Given the description of an element on the screen output the (x, y) to click on. 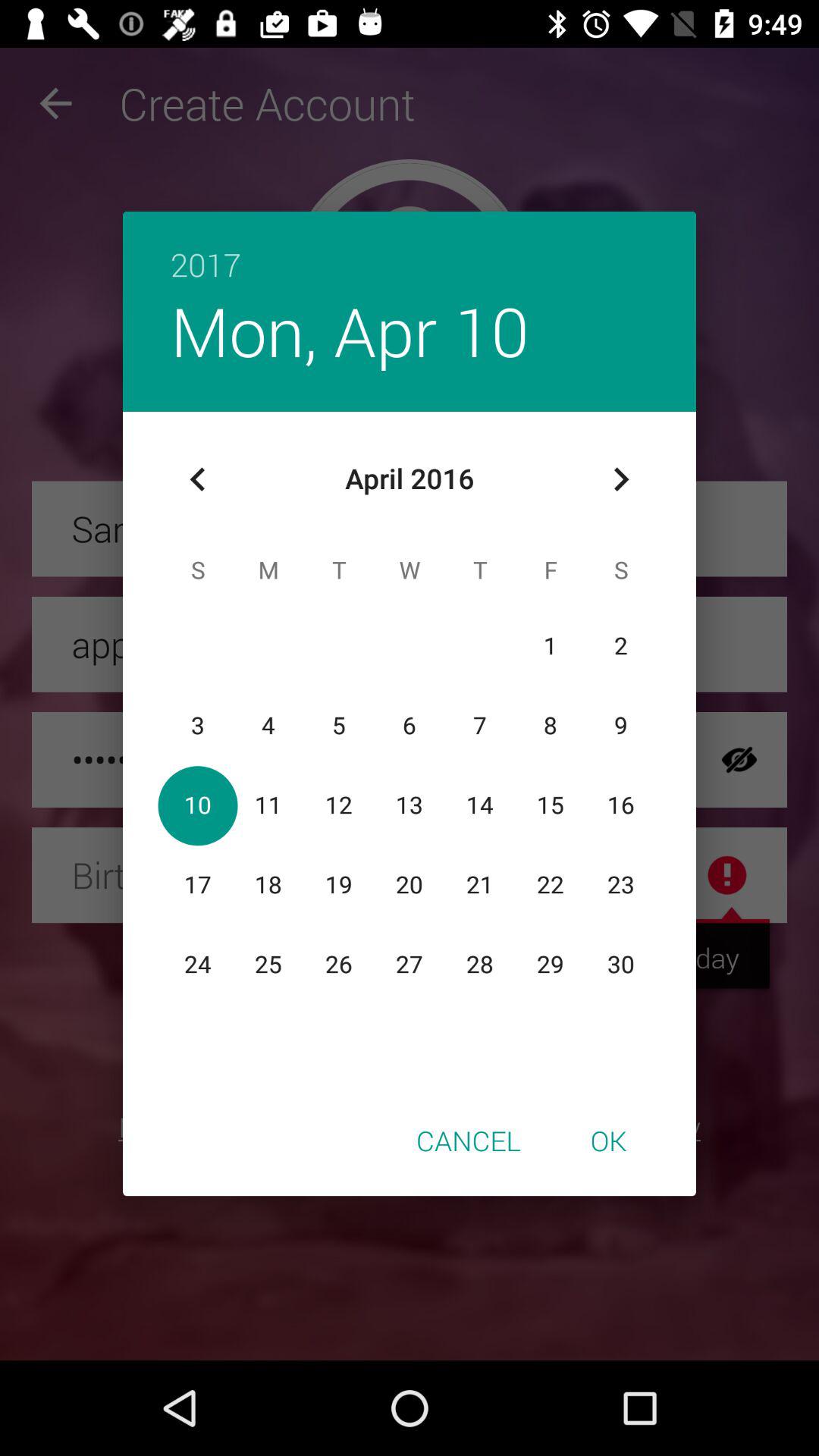
press the 2017 icon (409, 248)
